Given the description of an element on the screen output the (x, y) to click on. 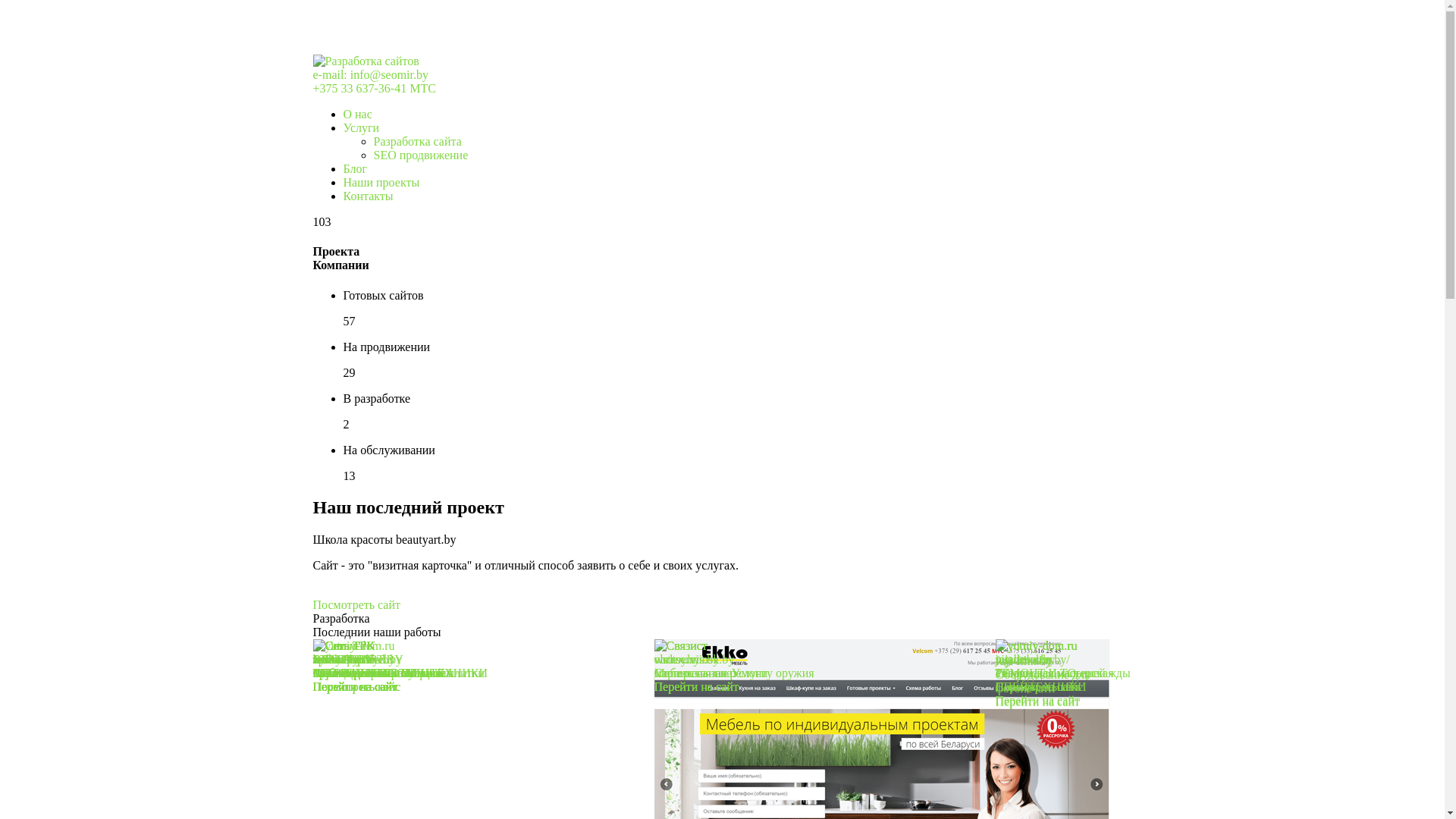
e-mail: info@seomir.by Element type: text (369, 74)
